Given the description of an element on the screen output the (x, y) to click on. 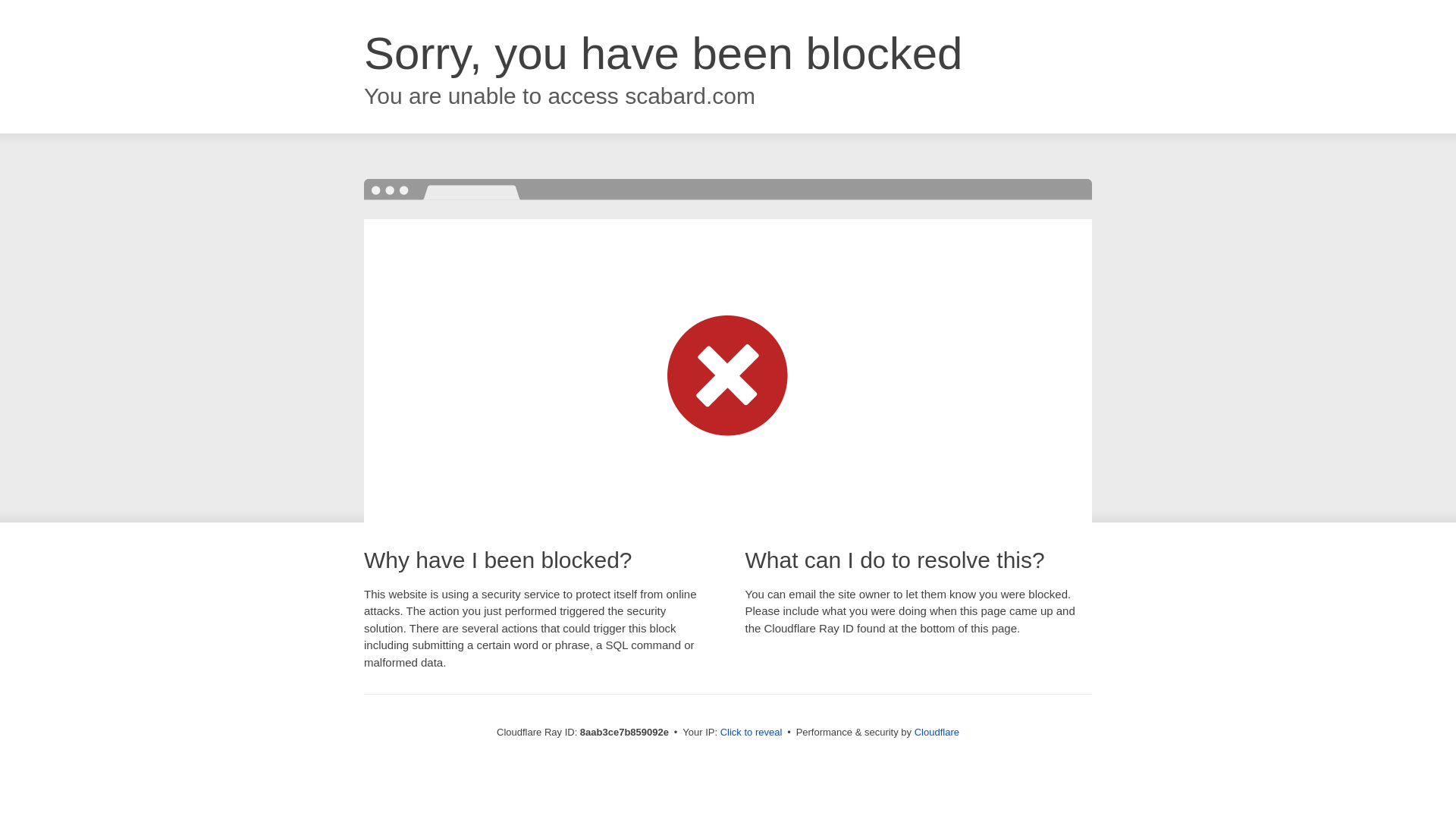
Click to reveal (751, 732)
Cloudflare (936, 731)
